Given the description of an element on the screen output the (x, y) to click on. 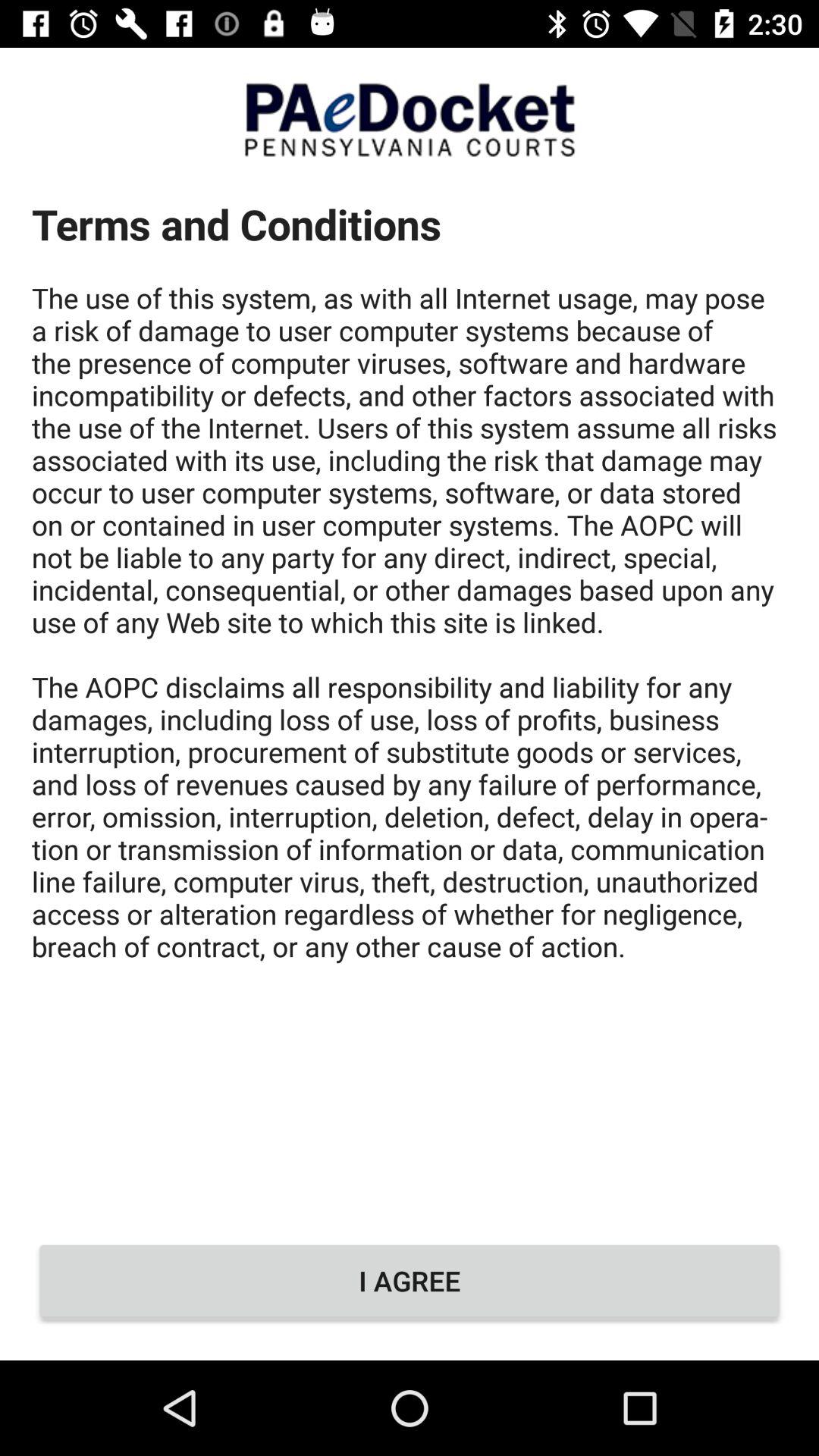
turn off terms and conditions at the center (409, 696)
